Given the description of an element on the screen output the (x, y) to click on. 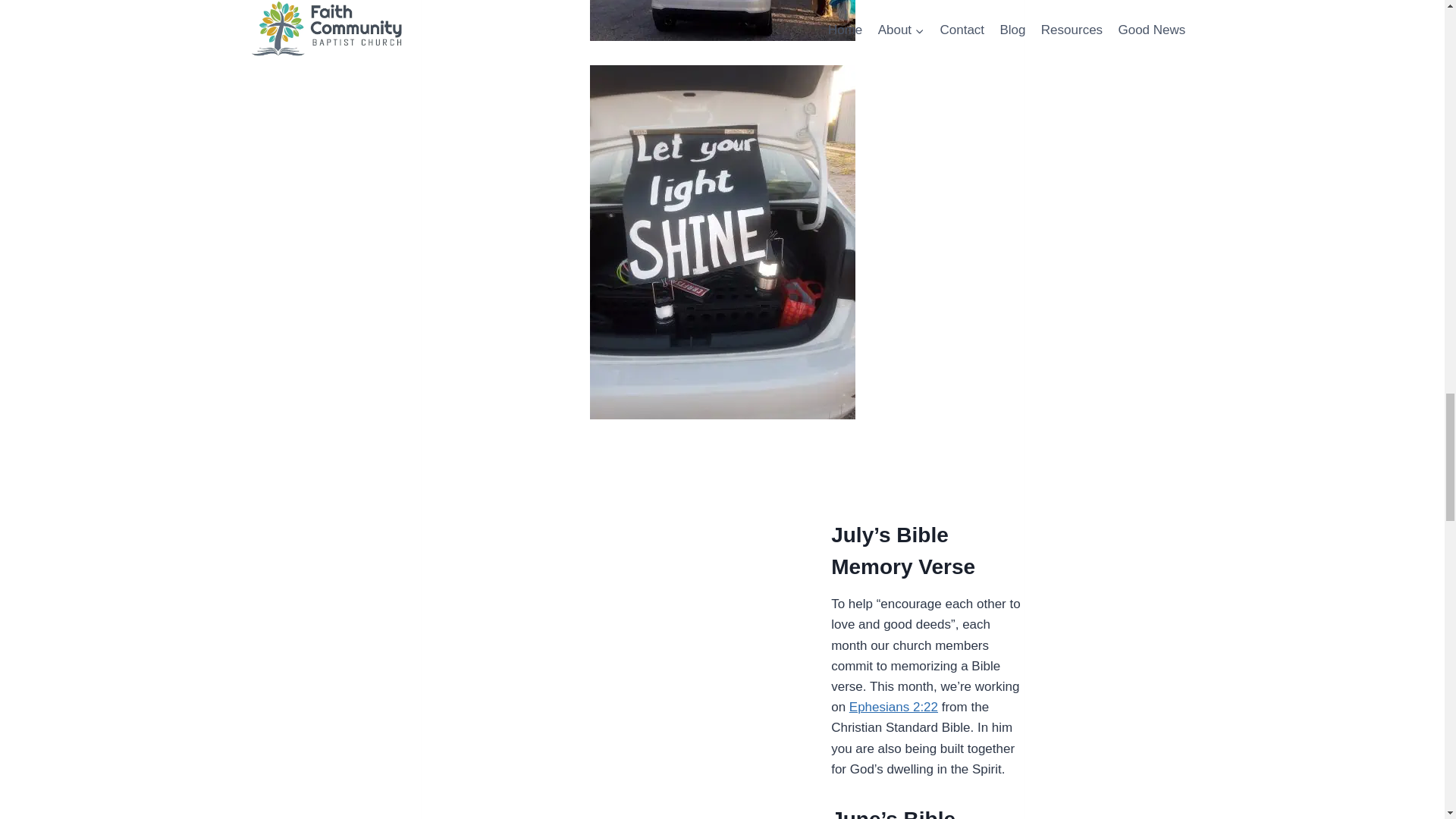
Ephesians 2:22 (892, 707)
